Given the description of an element on the screen output the (x, y) to click on. 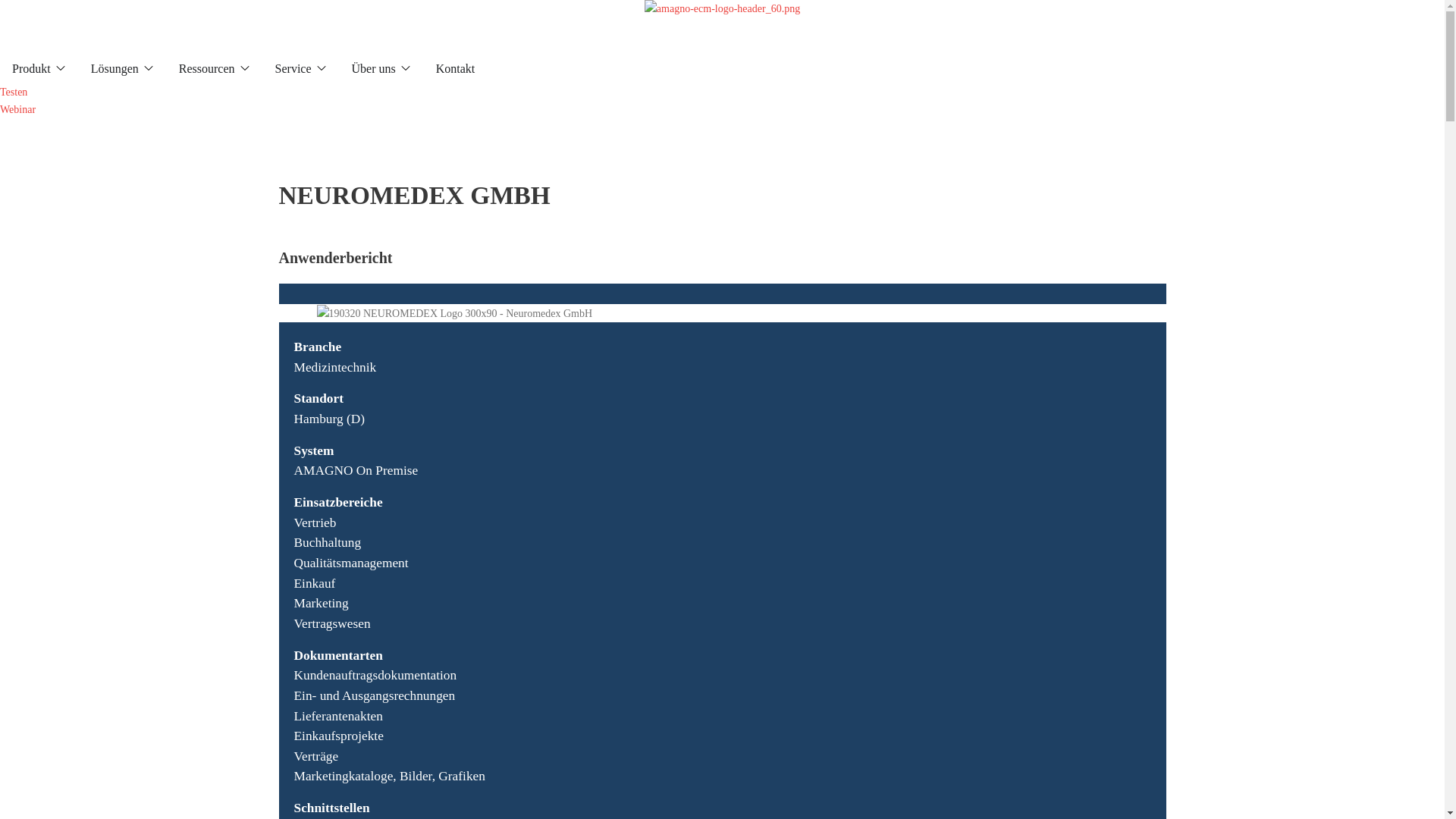
Ressourcen Element type: text (206, 68)
Produkt Element type: text (31, 68)
amagno-ecm-logo-header_60.png Element type: hover (722, 26)
Neuromedex GmbH Element type: hover (454, 313)
Testen Element type: text (13, 91)
Webinar Element type: text (17, 109)
Kontakt Element type: text (455, 68)
